Given the description of an element on the screen output the (x, y) to click on. 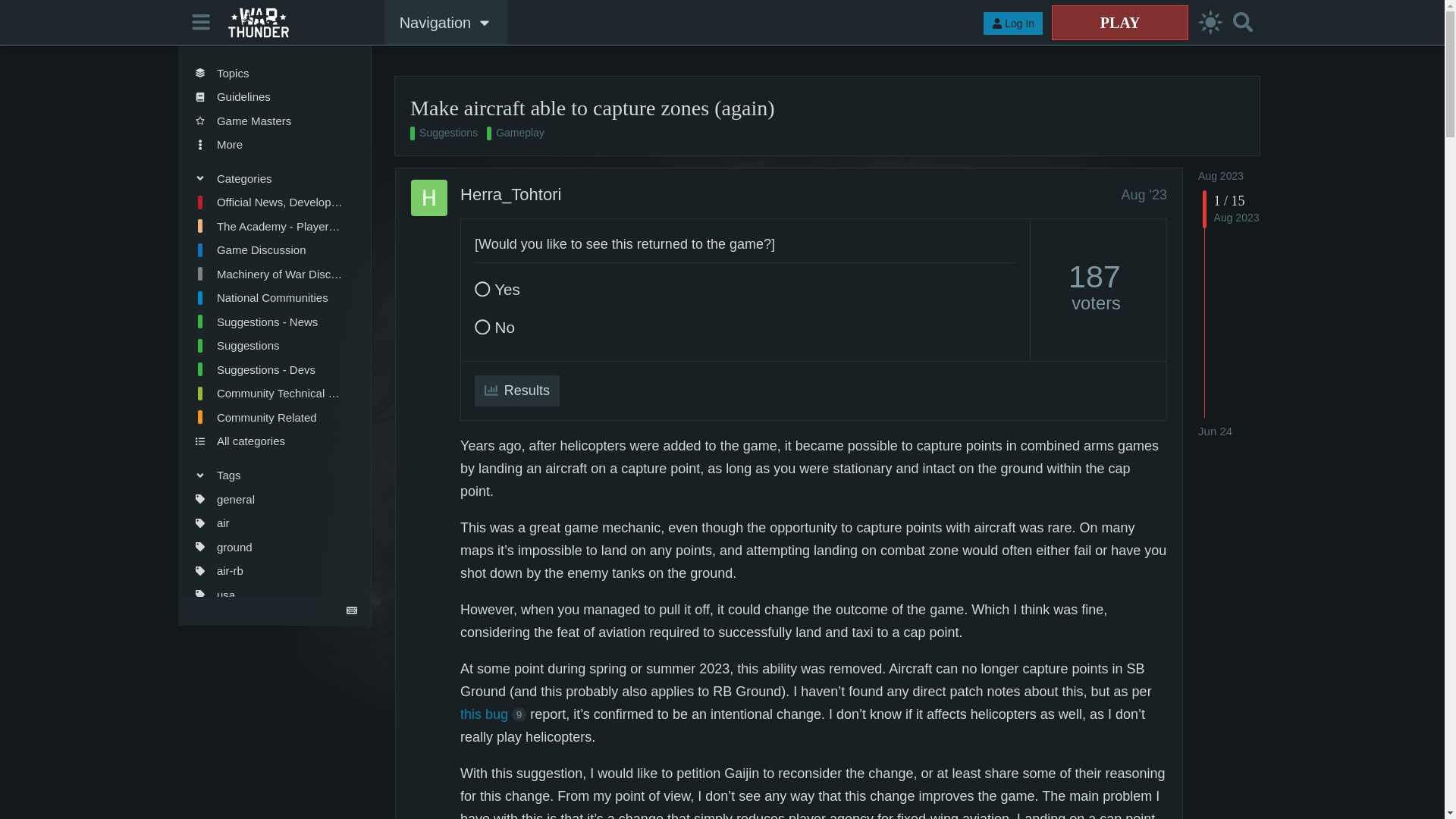
PLAY (1119, 22)
air-rb (268, 570)
Suggestions - Devs (268, 369)
Play (1119, 22)
Search (1242, 21)
All tags (268, 618)
National Communities (268, 297)
Guidelines (268, 96)
Community Technical Support (268, 393)
Toggle section (269, 474)
More (268, 144)
ground (268, 546)
Toggle color scheme (1210, 22)
